Given the description of an element on the screen output the (x, y) to click on. 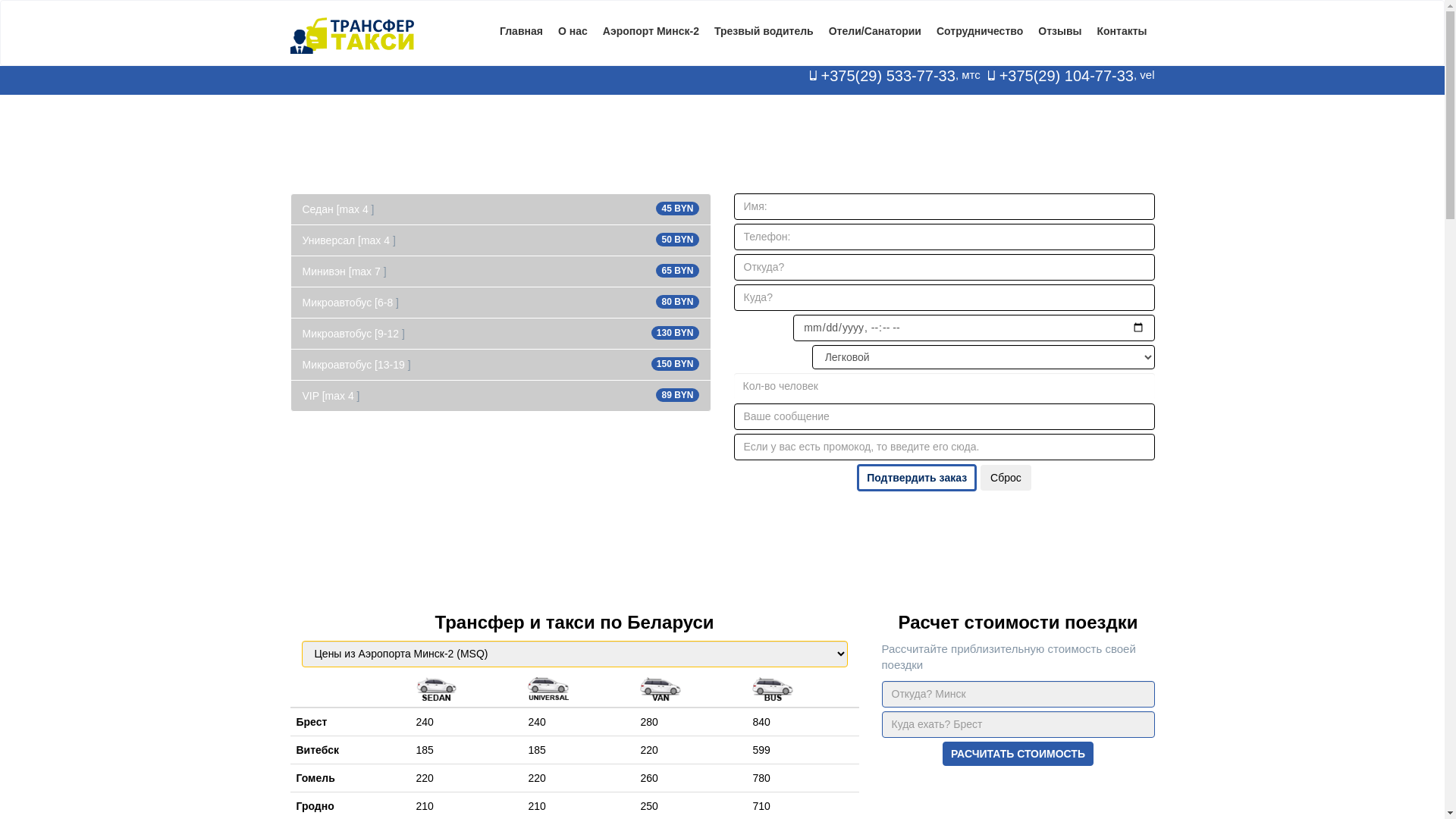
+375(29) 533-77-33 Element type: text (888, 75)
+375(29) 104-77-33 Element type: text (1066, 75)
VIP [max 4 Element type: text (327, 395)
